Given the description of an element on the screen output the (x, y) to click on. 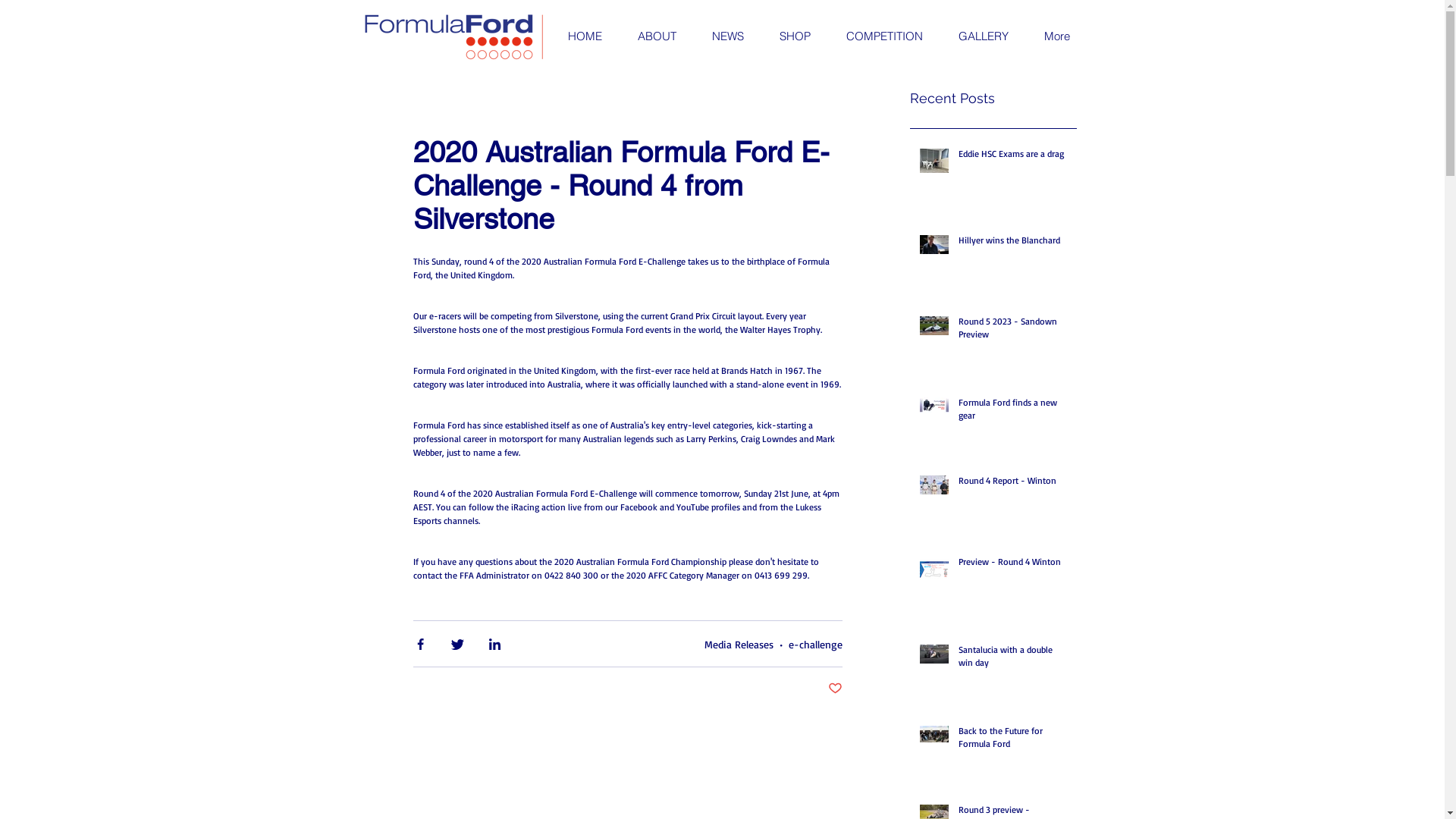
e-challenge Element type: text (815, 643)
Santalucia with a double win day Element type: text (1012, 659)
NEWS Element type: text (726, 36)
COMPETITION Element type: text (884, 36)
Round 5 2023 - Sandown Preview Element type: text (1012, 331)
Back to the Future for Formula Ford Element type: text (1012, 740)
Formula Ford finds a new gear Element type: text (1012, 412)
ABOUT Element type: text (655, 36)
Round 4 Report - Winton Element type: text (1012, 483)
GALLERY Element type: text (983, 36)
Hillyer wins the Blanchard Element type: text (1012, 243)
HOME Element type: text (584, 36)
Eddie HSC Exams are a drag Element type: text (1012, 156)
Preview - Round 4 Winton Element type: text (1012, 564)
SHOP Element type: text (794, 36)
Post not marked as liked Element type: text (835, 688)
Media Releases Element type: text (737, 643)
